Given the description of an element on the screen output the (x, y) to click on. 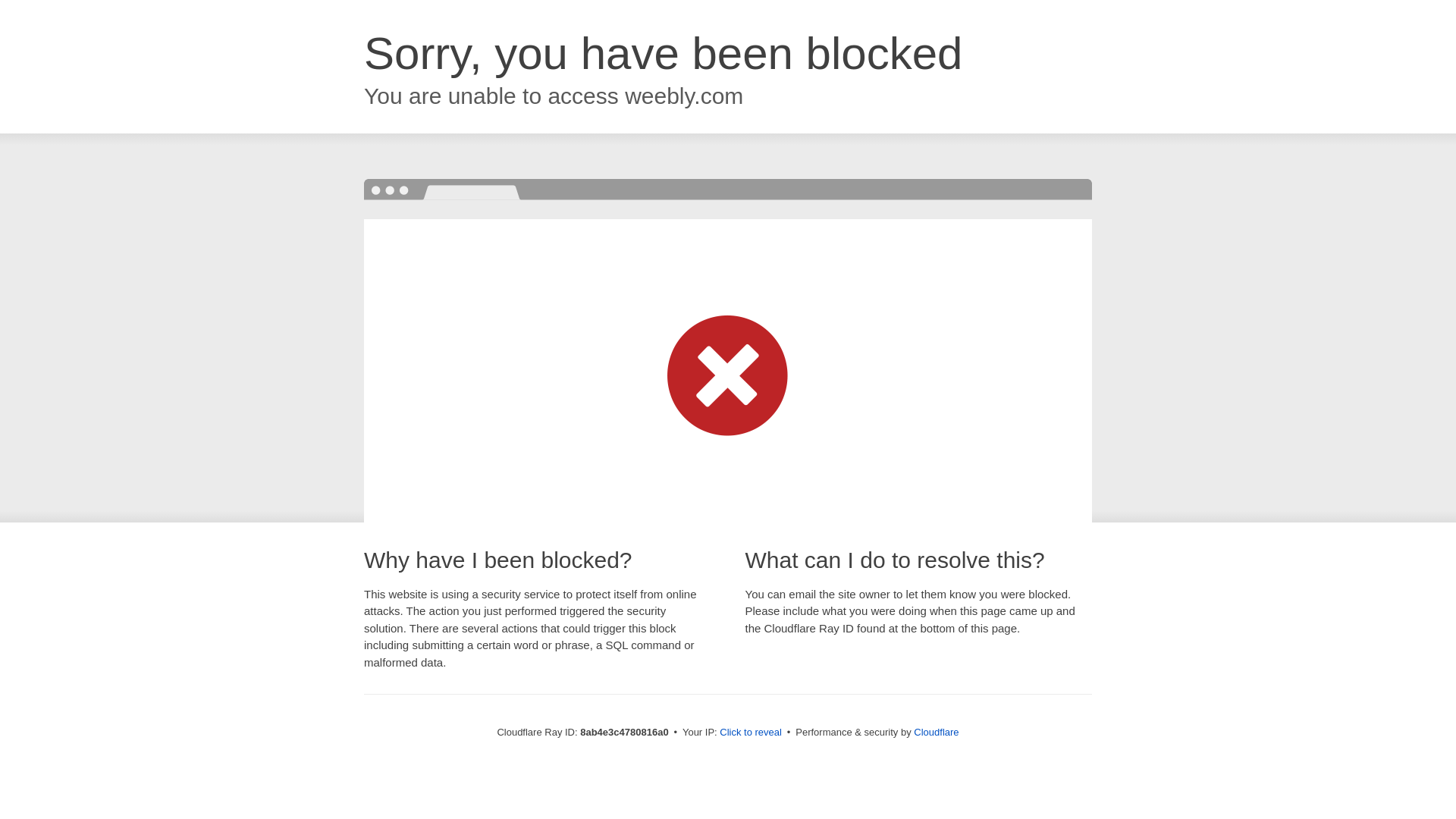
Click to reveal (750, 732)
Cloudflare (936, 731)
